Given the description of an element on the screen output the (x, y) to click on. 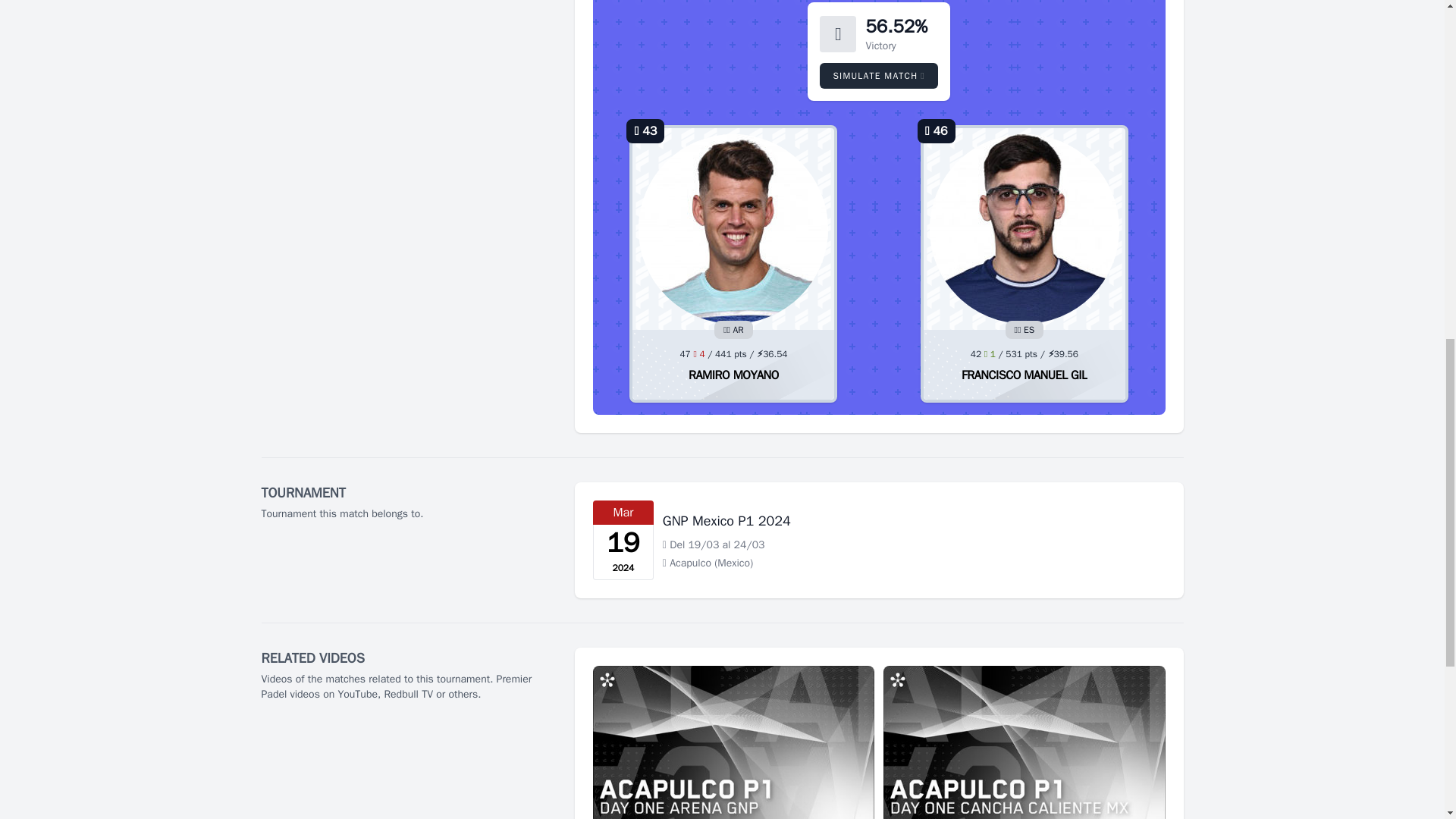
Ramiro Moyano (732, 228)
SIMULATE MATCH (878, 75)
Francisco Manuel Gil (1023, 375)
FRANCISCO MANUEL GIL (1023, 375)
Francisco Manuel Gil (1024, 228)
GNP Mexico P1 2024 (726, 520)
RAMIRO MOYANO (733, 375)
Ramiro Moyano (733, 375)
